Given the description of an element on the screen output the (x, y) to click on. 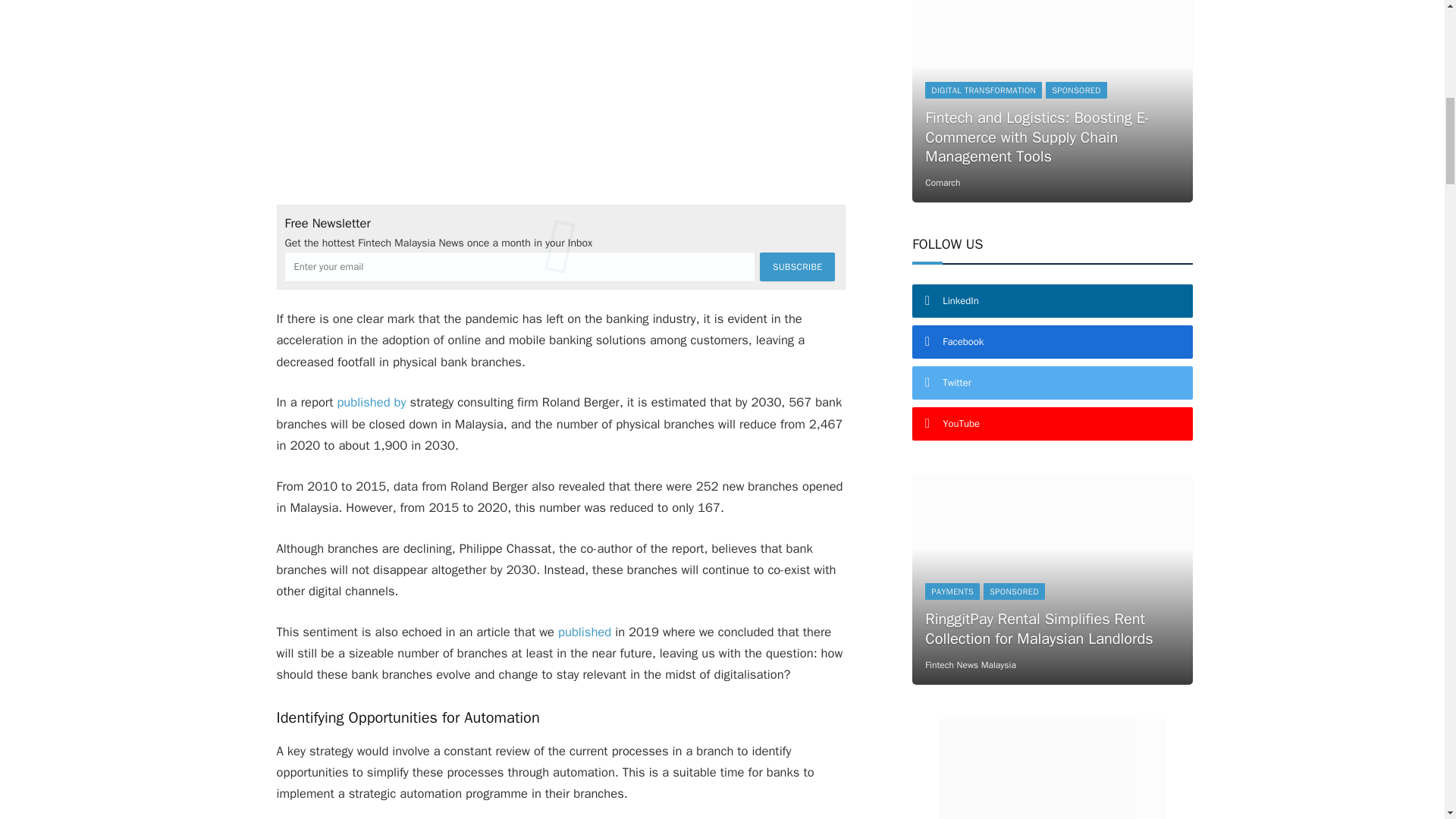
Subscribe (797, 266)
